Given the description of an element on the screen output the (x, y) to click on. 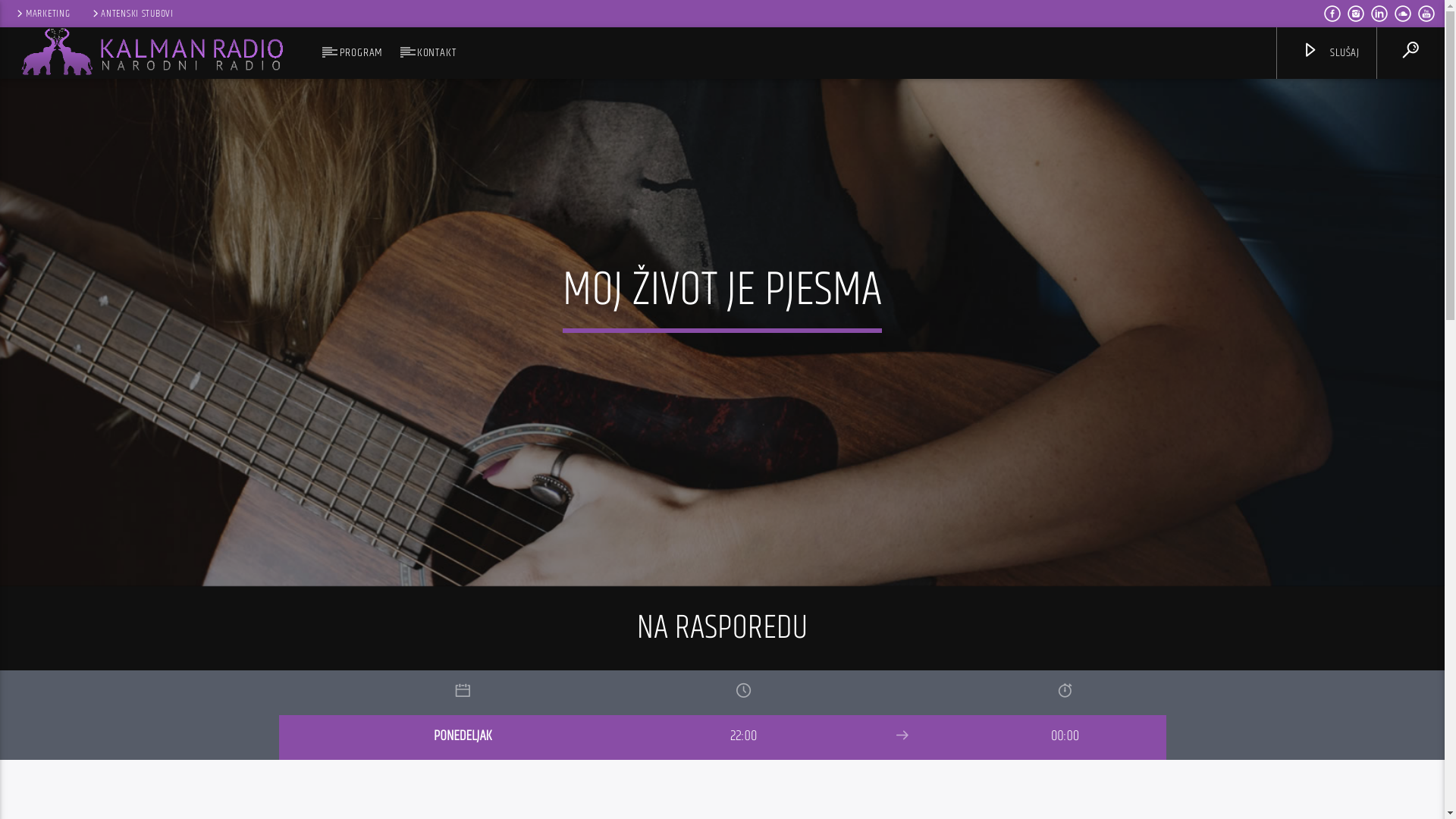
Pretraga Element type: text (1203, 99)
ANTENSKI STUBOVI Element type: text (131, 13)
PROGRAM Element type: text (360, 52)
MARKETING Element type: text (41, 13)
KONTAKT Element type: text (436, 52)
